Given the description of an element on the screen output the (x, y) to click on. 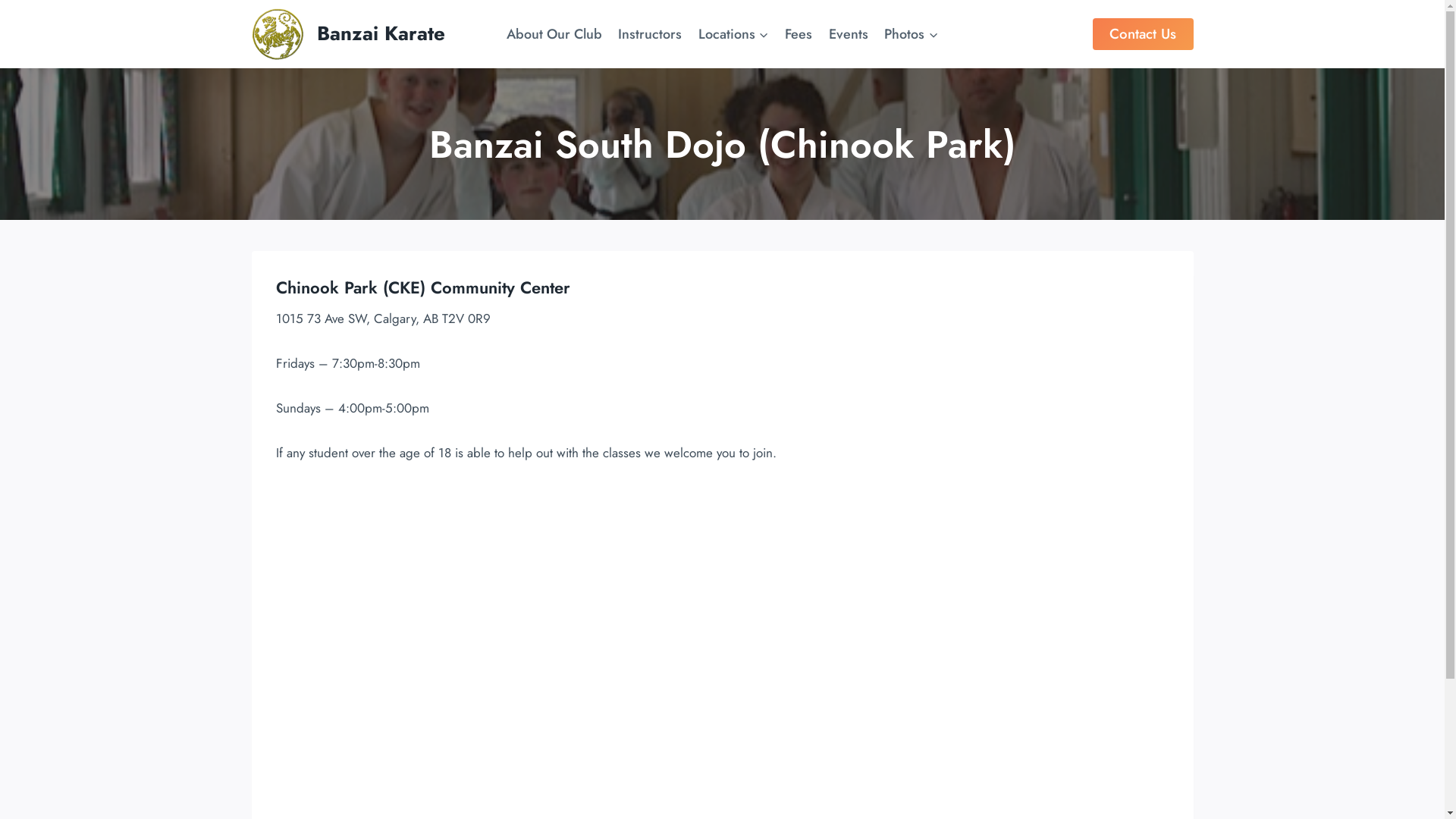
Instructors Element type: text (649, 34)
Fees Element type: text (798, 34)
Contact Us Element type: text (1142, 33)
About Our Club Element type: text (554, 34)
Events Element type: text (848, 34)
Locations Element type: text (733, 34)
Photos Element type: text (911, 34)
Banzai Karate Element type: text (348, 33)
